Given the description of an element on the screen output the (x, y) to click on. 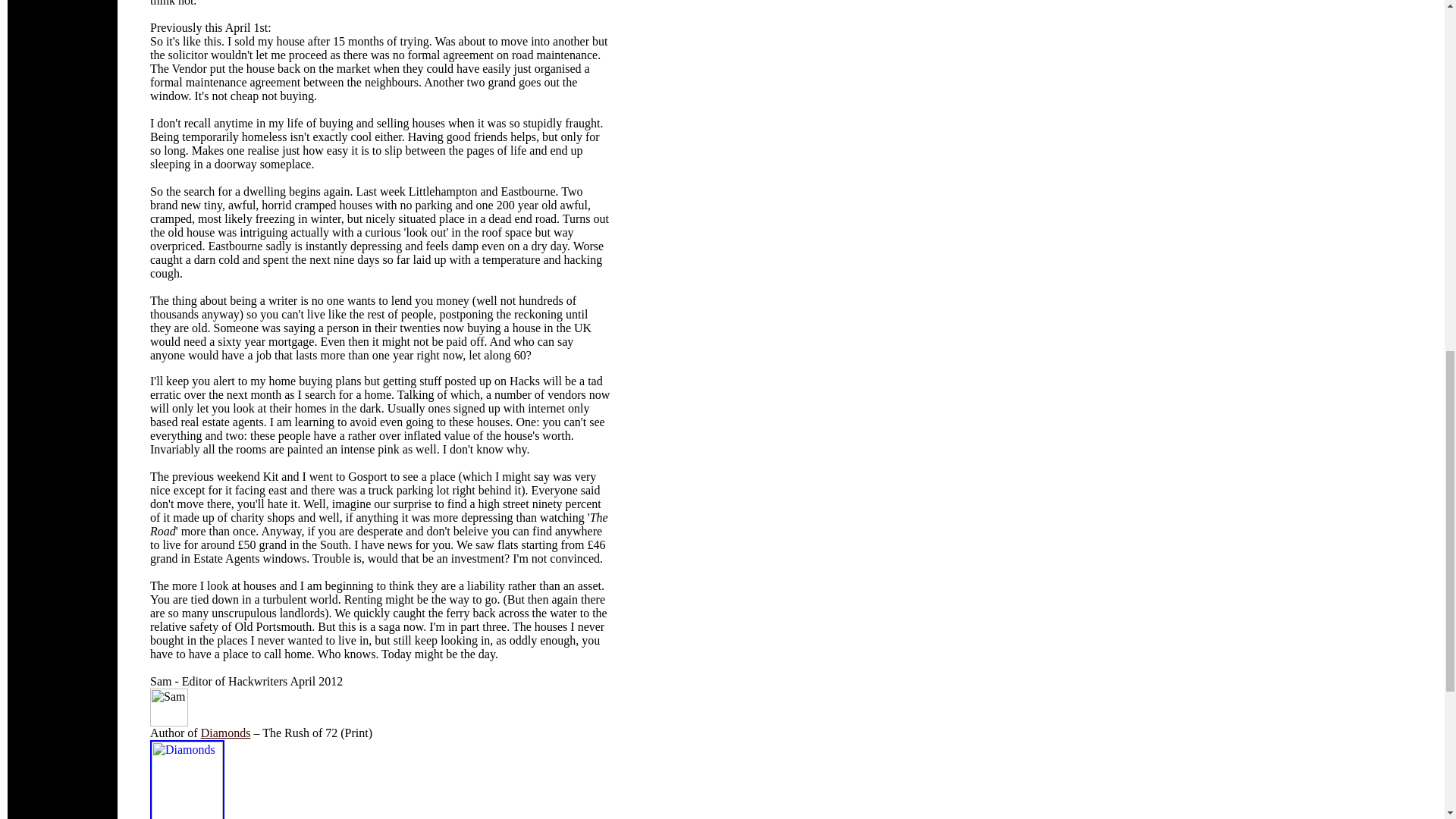
Diamonds (225, 732)
